Given the description of an element on the screen output the (x, y) to click on. 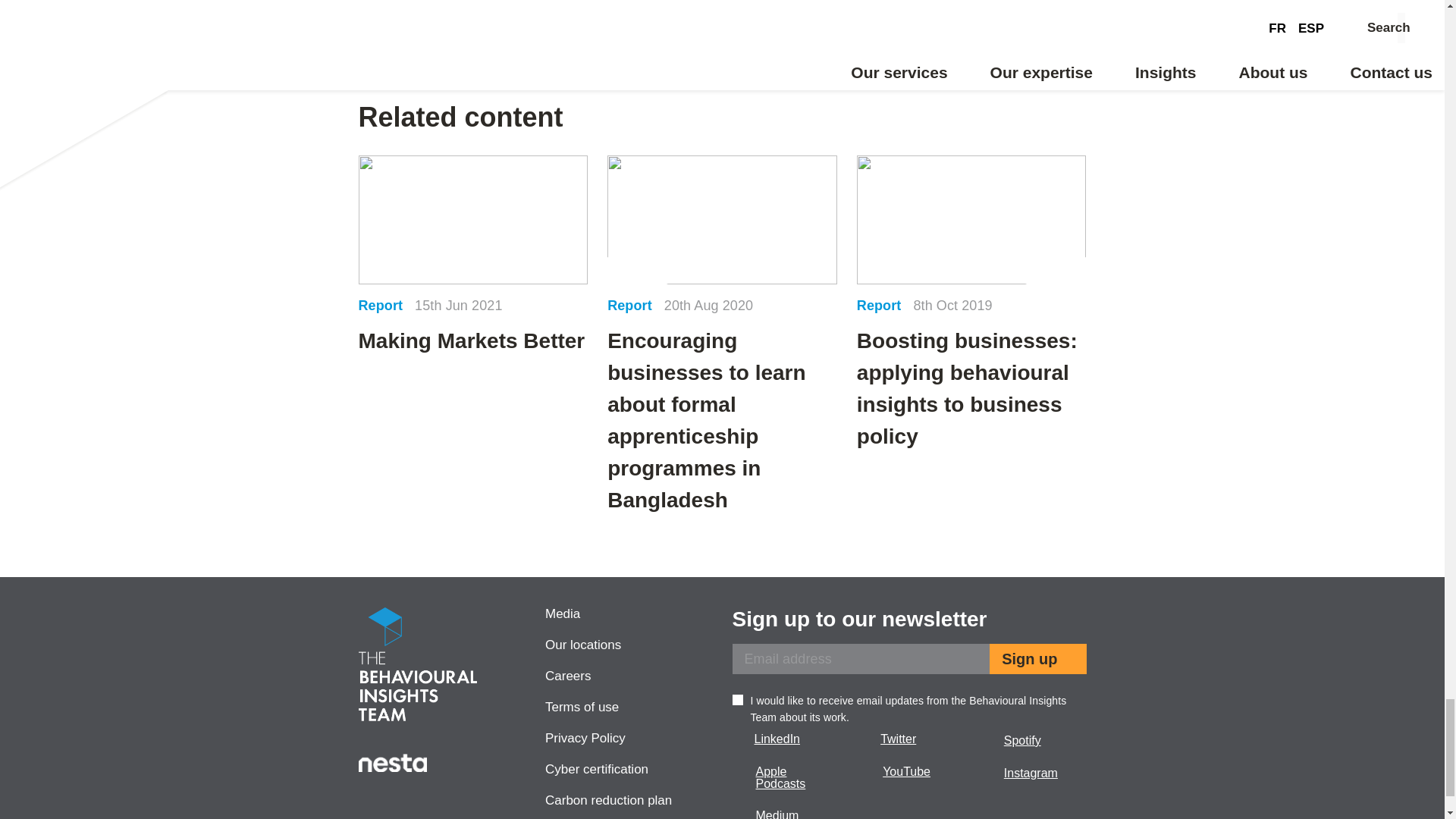
Professor David Halpern CBE (534, 12)
Making Markets Better (473, 256)
Nida Broughton (909, 12)
